Given the description of an element on the screen output the (x, y) to click on. 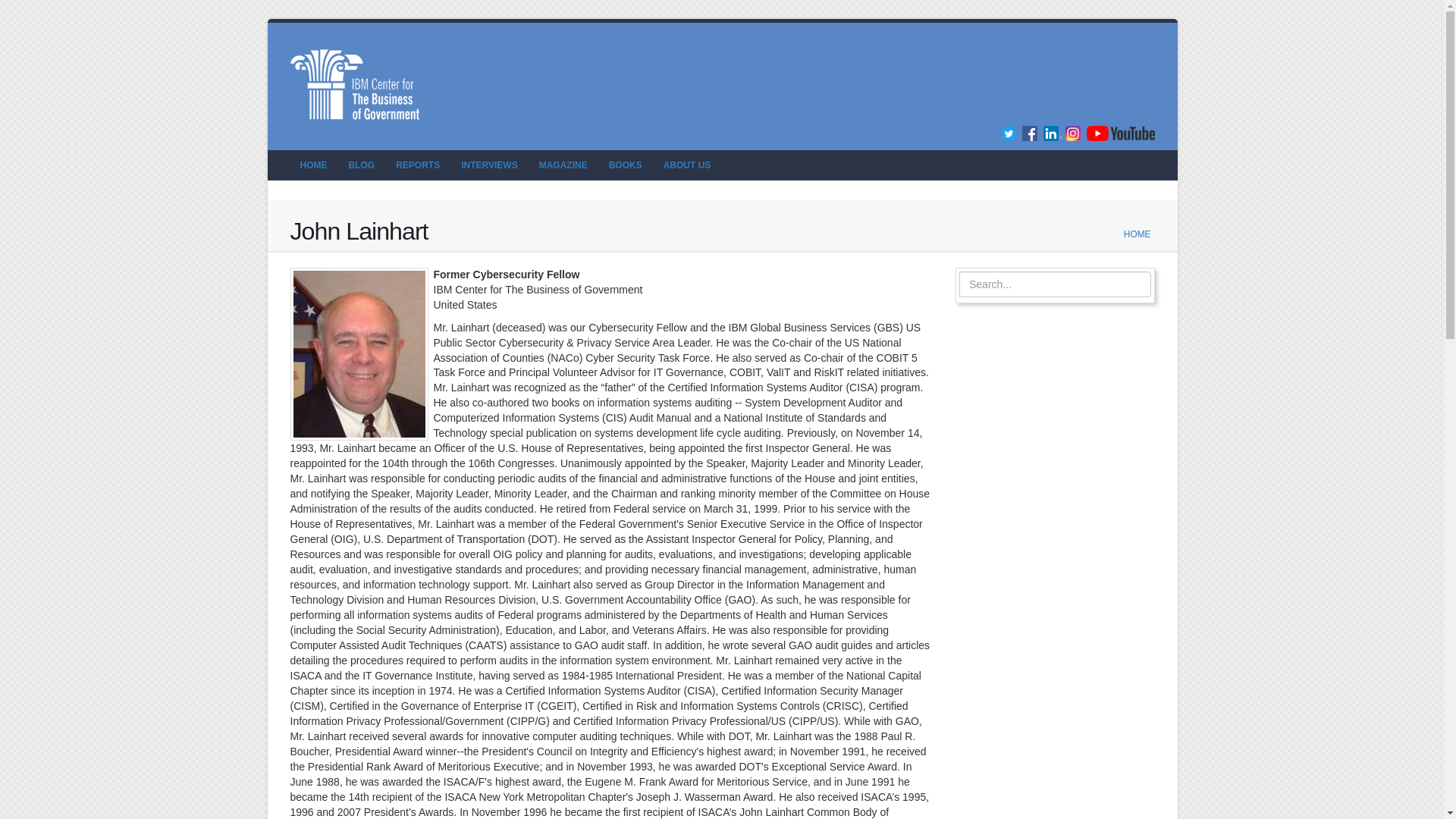
BOOKS (625, 164)
REPORTS (417, 164)
HOME (1137, 234)
MAGAZINE (562, 164)
Enter the terms you wish to search for. (1055, 284)
ABOUT US (686, 164)
INTERVIEWS (489, 164)
BLOG (360, 164)
HOME (312, 164)
